Given the description of an element on the screen output the (x, y) to click on. 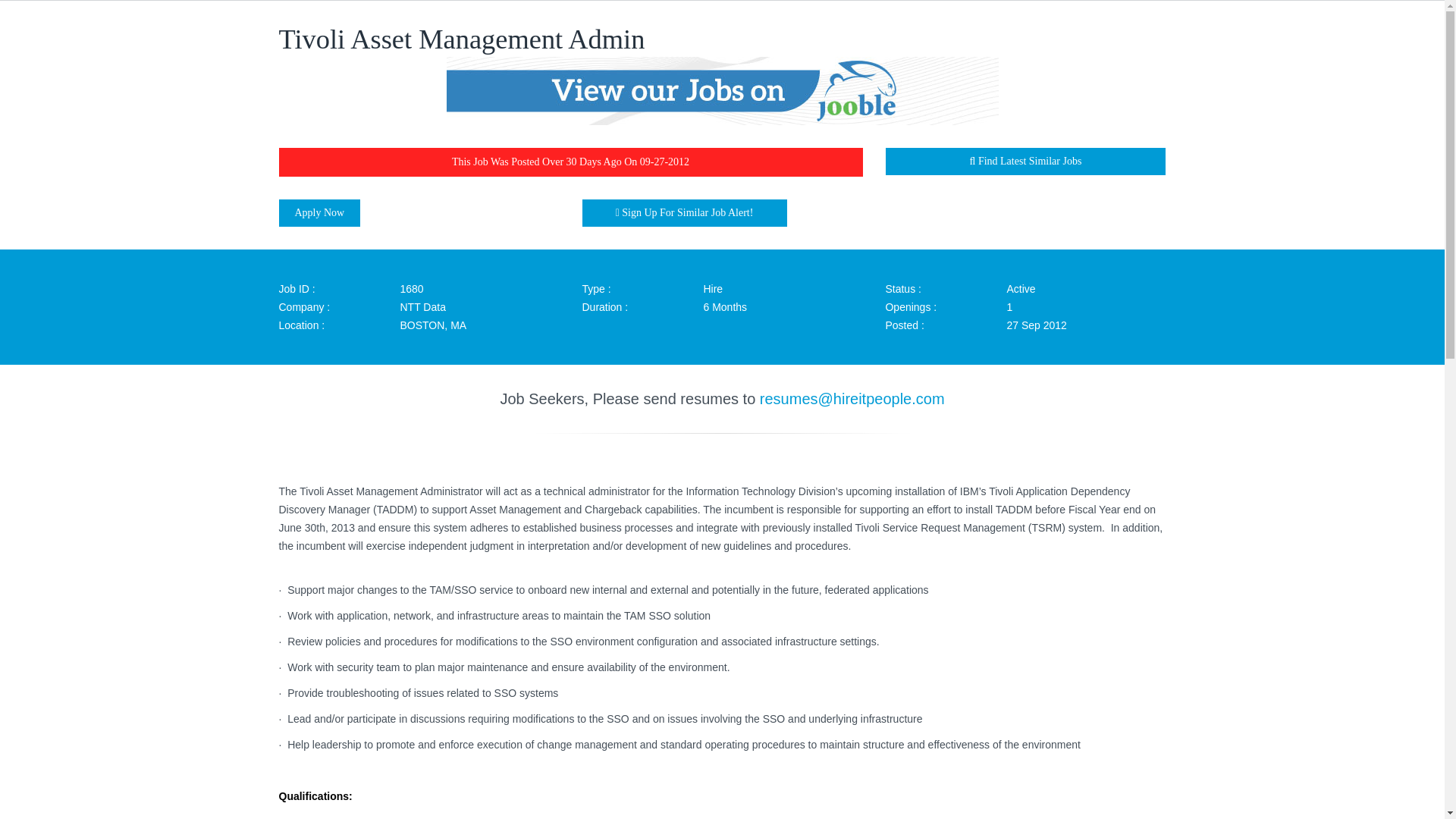
Apply Now (320, 212)
Sign Up For Similar Job Alert! (684, 212)
Find Latest Similar Jobs (1025, 161)
